Given the description of an element on the screen output the (x, y) to click on. 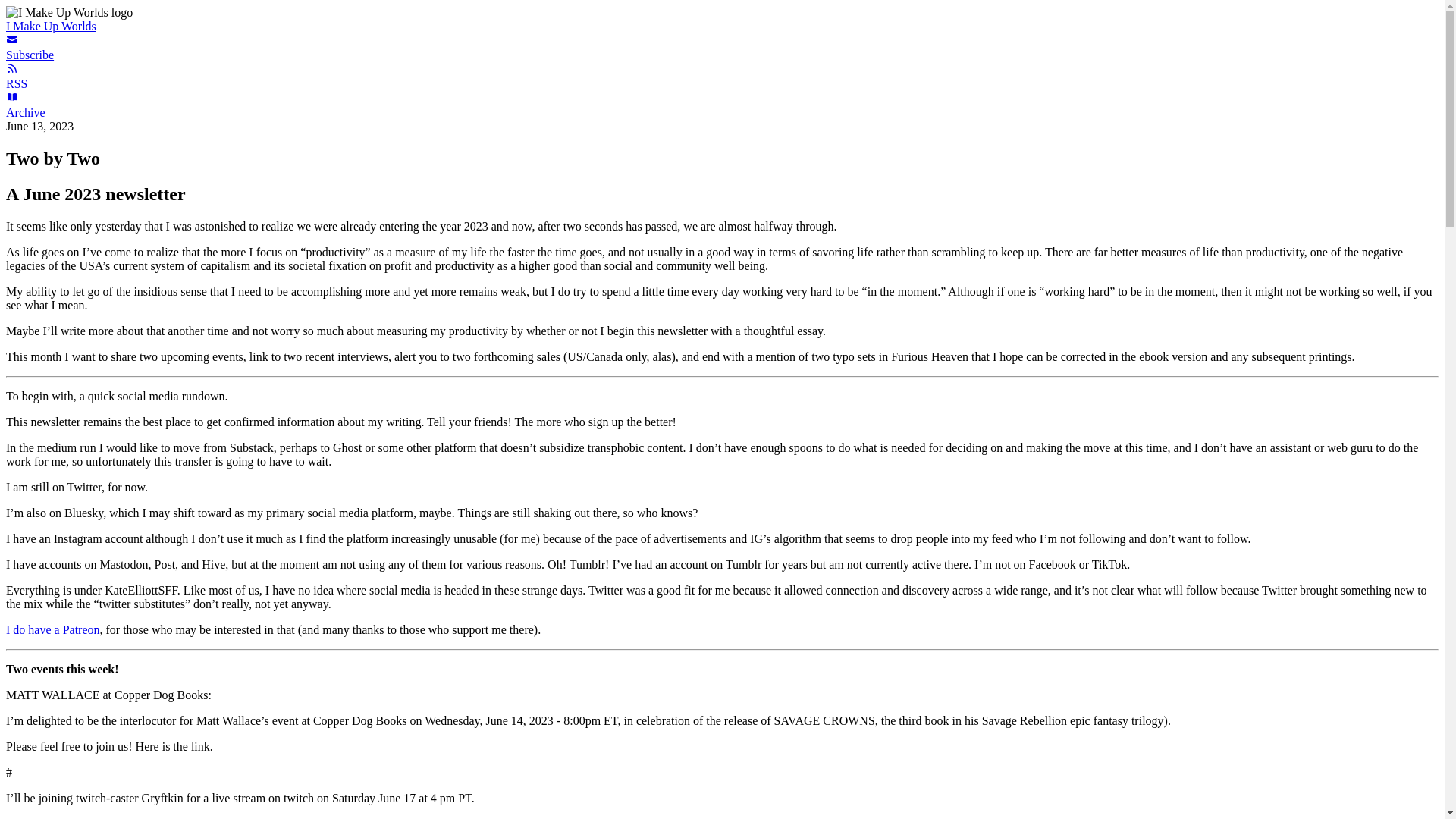
I do have a Patreon (52, 629)
I Make Up Worlds (50, 25)
